Given the description of an element on the screen output the (x, y) to click on. 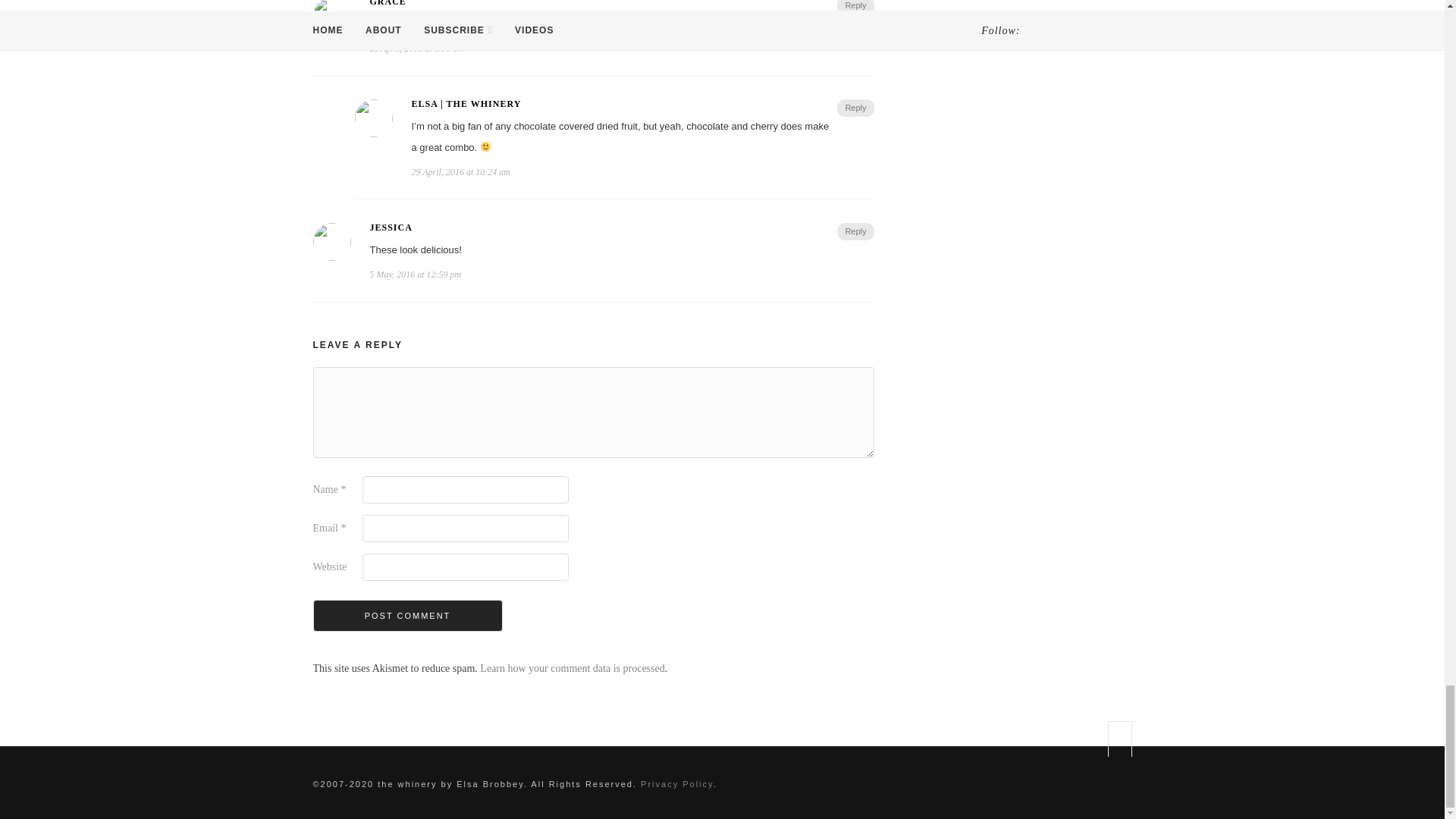
Post Comment (407, 615)
